Given the description of an element on the screen output the (x, y) to click on. 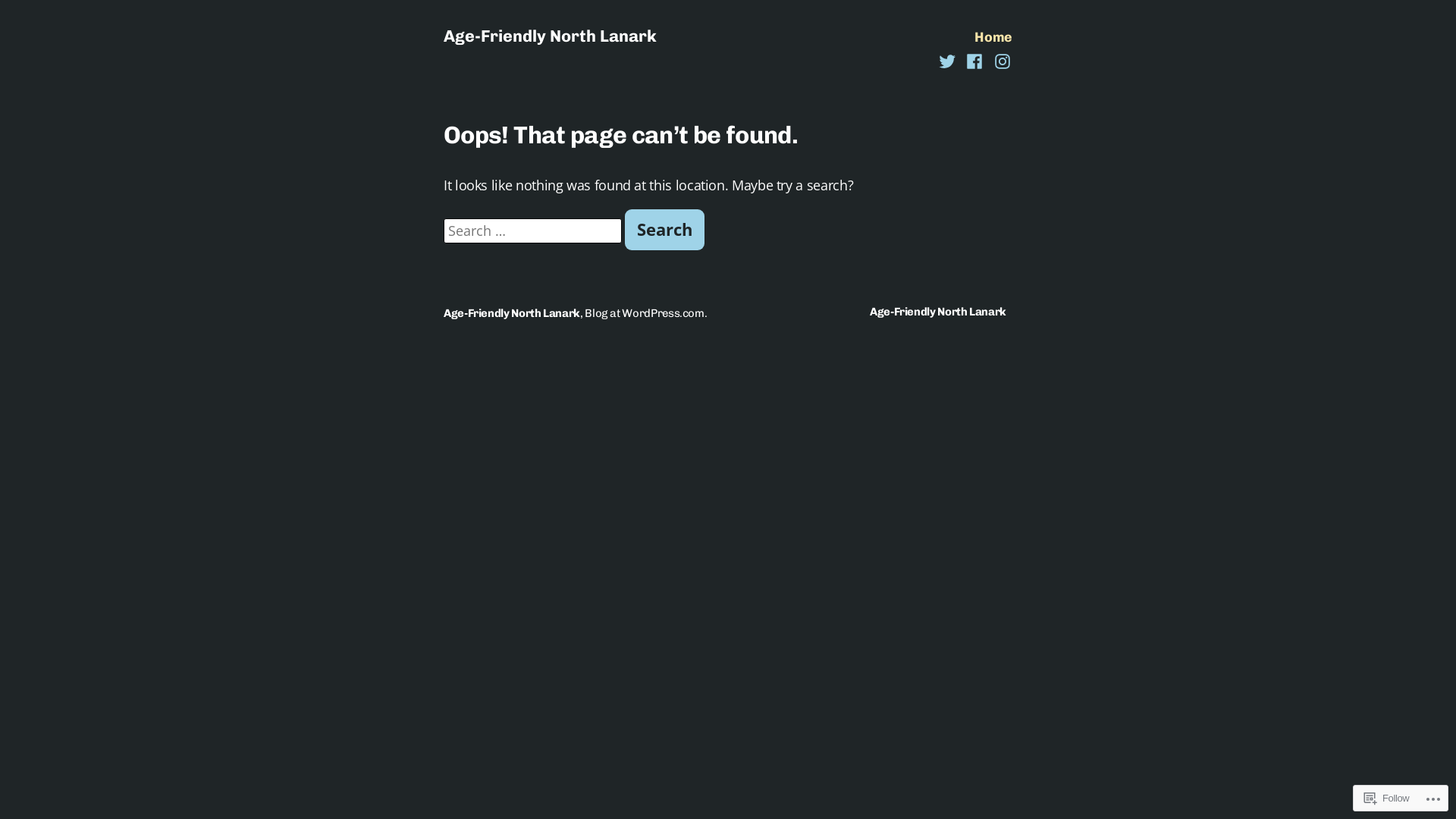
Age-Friendly North Lanark Element type: text (940, 311)
Follow Element type: text (1386, 797)
Age-Friendly North Lanark Element type: text (549, 35)
Search Element type: text (664, 229)
Home Element type: text (993, 36)
Blog at WordPress.com. Element type: text (645, 313)
Age-Friendly North Lanark Element type: text (511, 313)
